Given the description of an element on the screen output the (x, y) to click on. 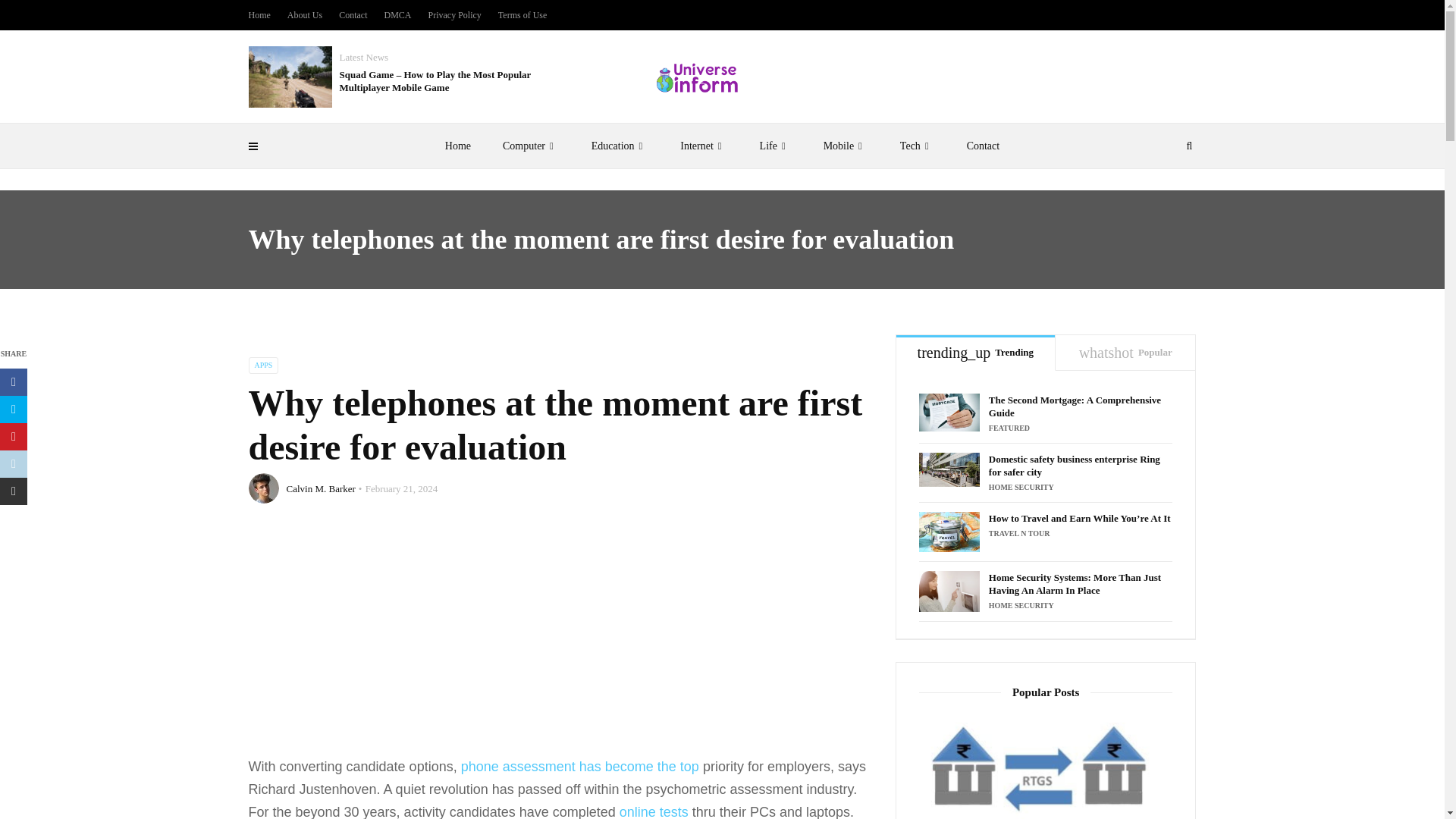
Domestic safety business enterprise Ring for safer city 4 (948, 469)
How to Travel and Earn While You're At It 5 (948, 531)
Computer (530, 145)
Internet (702, 145)
Advertisement (560, 641)
Education (620, 145)
Home (457, 145)
Life (776, 145)
The Second Mortgage: A Comprehensive Guide 3 (948, 412)
